Given the description of an element on the screen output the (x, y) to click on. 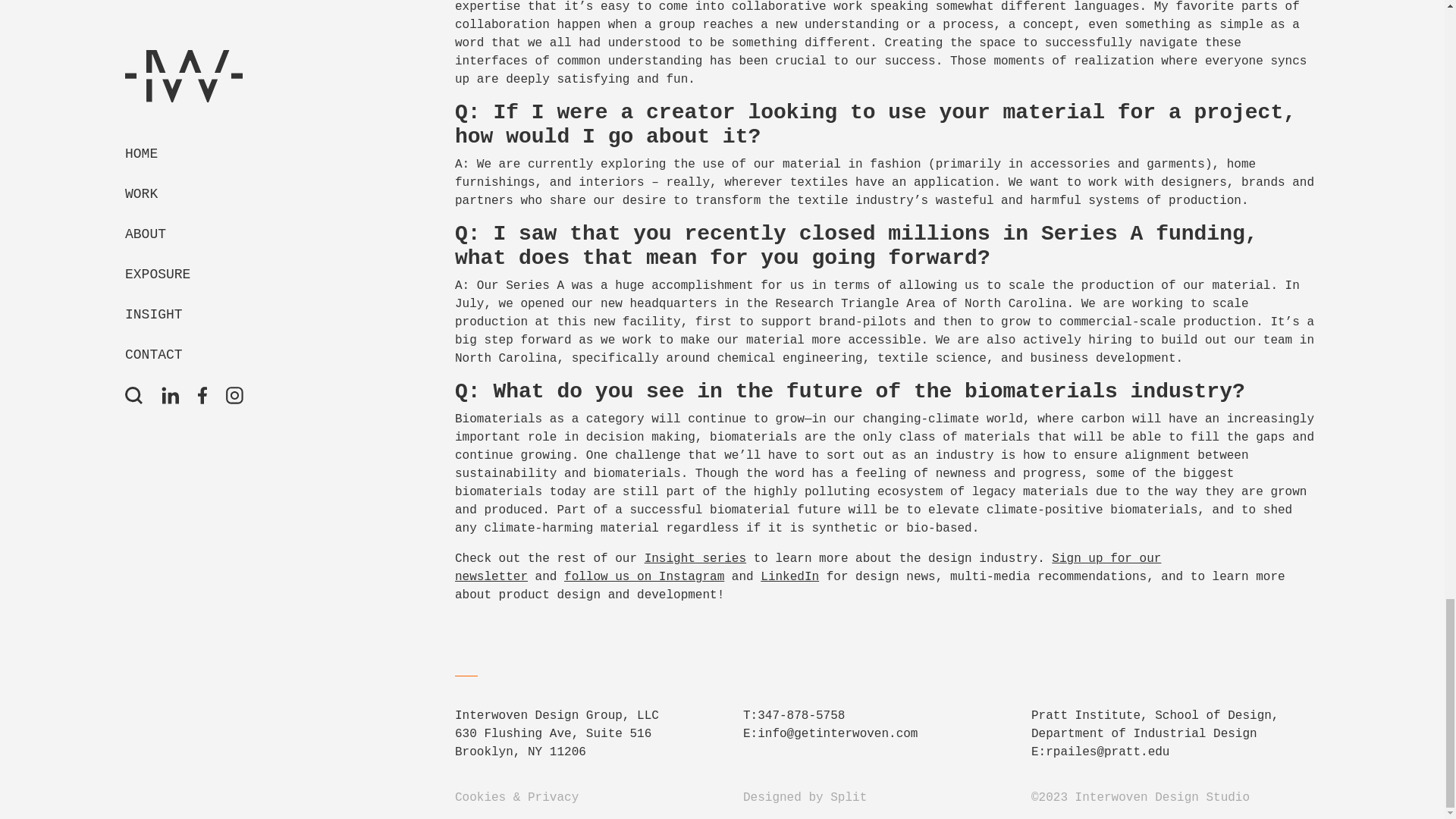
LinkedIn (789, 576)
Insight series (695, 558)
Split (847, 797)
Sign up for our newsletter (807, 567)
follow us on Instagram (643, 576)
